Given the description of an element on the screen output the (x, y) to click on. 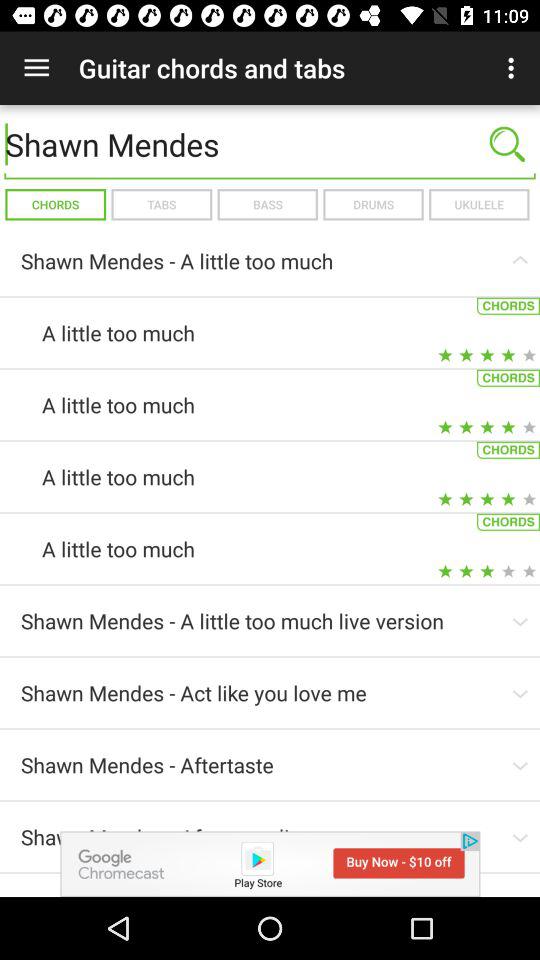
turn on item next to the guitar chords and icon (36, 68)
